Given the description of an element on the screen output the (x, y) to click on. 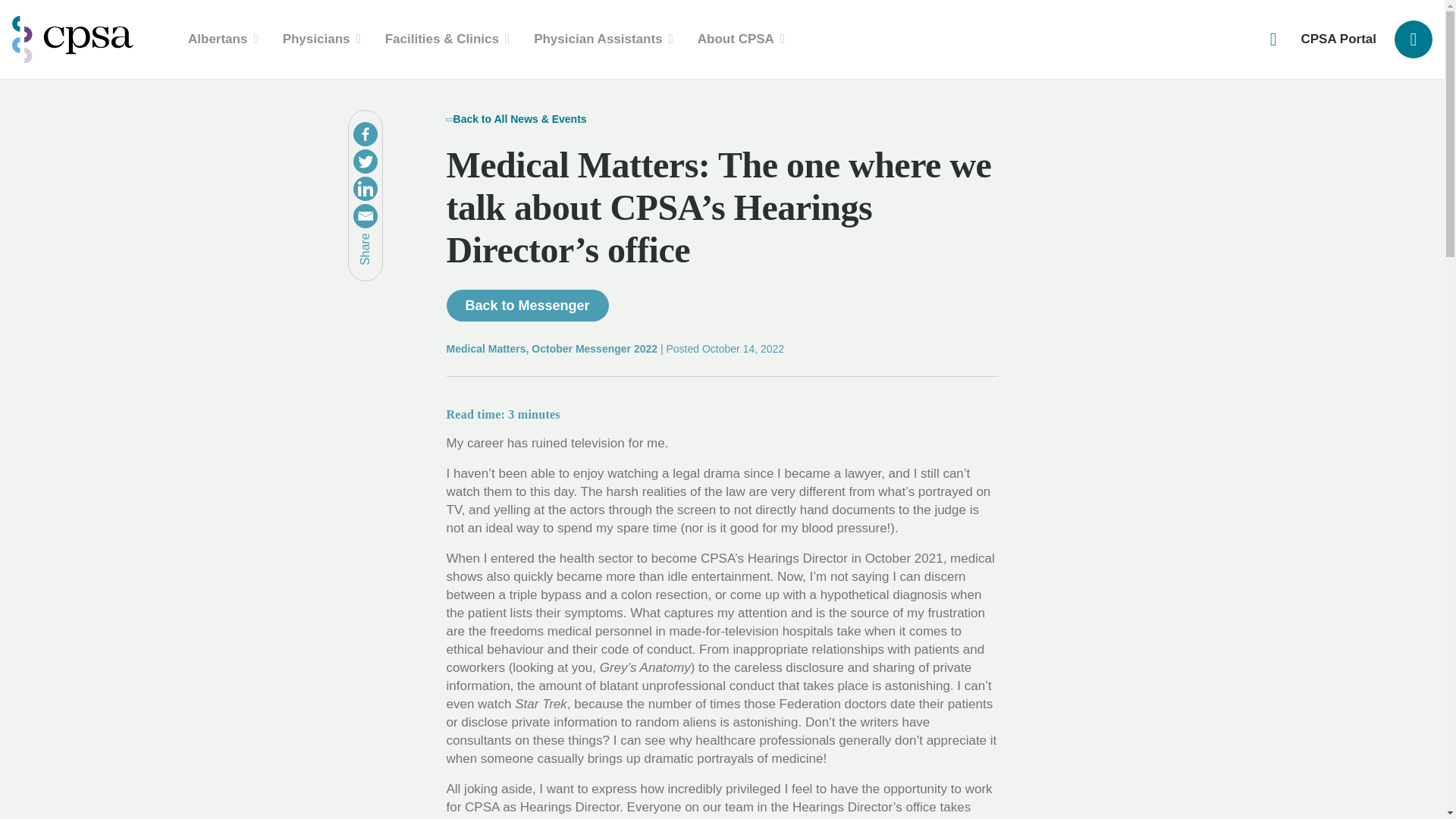
Email (365, 215)
Twitter (365, 161)
Linkedin (365, 188)
About CPSA (740, 39)
Physician Assistants (603, 39)
Physicians (321, 39)
CPSA Portal (1337, 39)
Facebook (365, 134)
Albertans (223, 39)
